Given the description of an element on the screen output the (x, y) to click on. 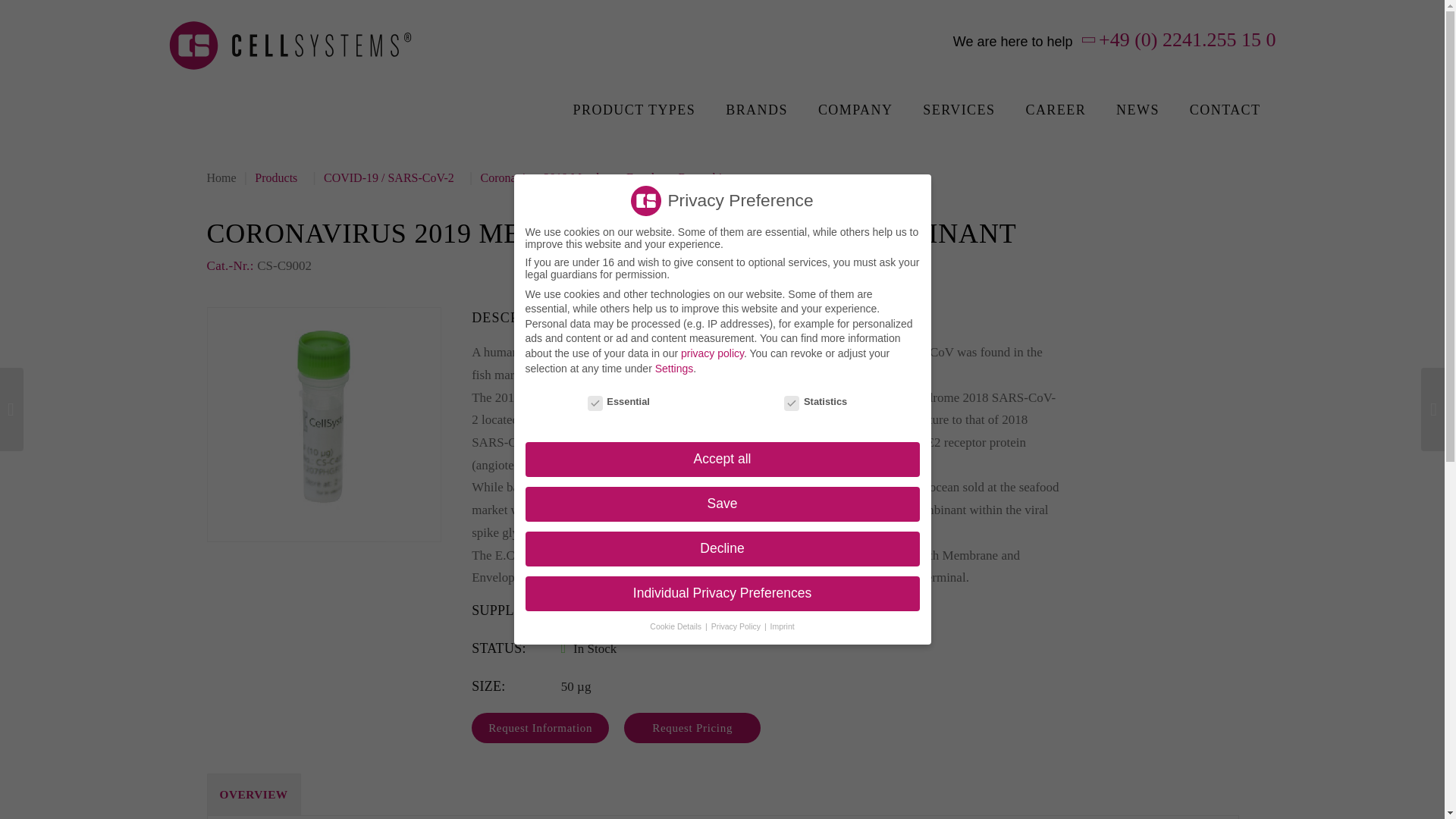
SERVICES (958, 109)
BRANDS (756, 109)
CAREER (1055, 109)
Go to Products. (279, 177)
OVERVIEW (252, 793)
Products (279, 177)
NEWS (1137, 109)
Request Information (539, 727)
Request Information (539, 727)
vial of huamn GM-CSF (323, 424)
